Given the description of an element on the screen output the (x, y) to click on. 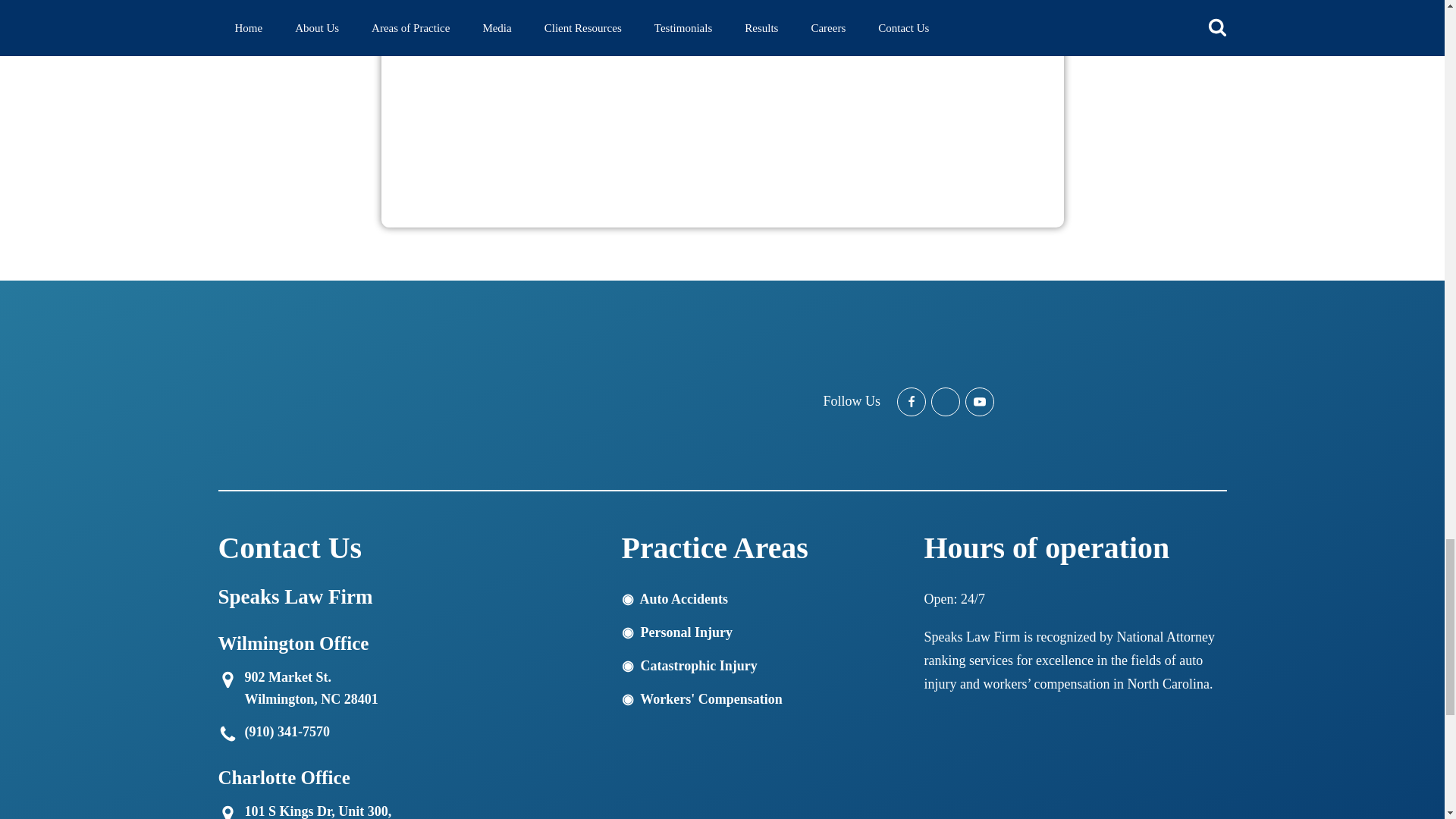
Charlotte Office (231, 807)
facebook (911, 401)
youtobe (979, 401)
Wilmington Office (231, 675)
Call now (231, 731)
